Given the description of an element on the screen output the (x, y) to click on. 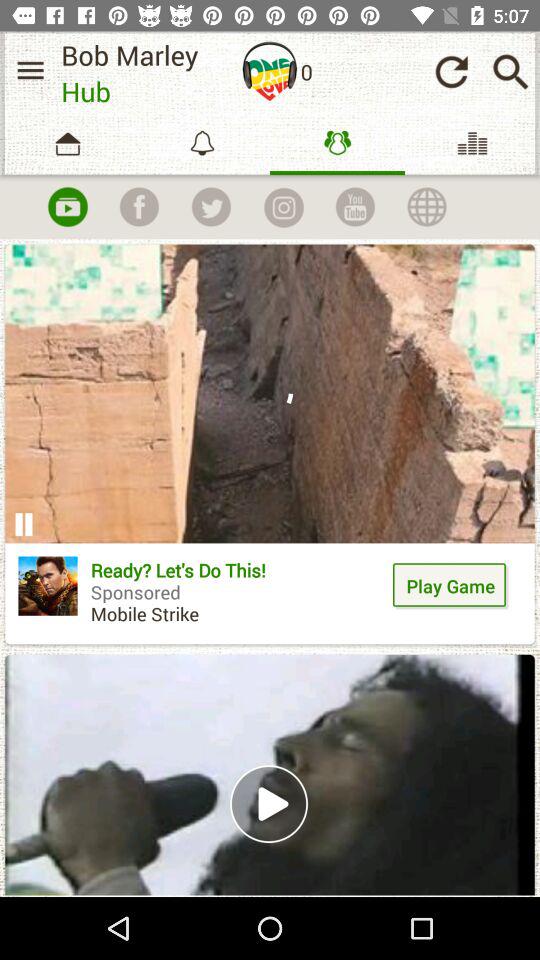
press the item next to bob marley icon (30, 69)
